Given the description of an element on the screen output the (x, y) to click on. 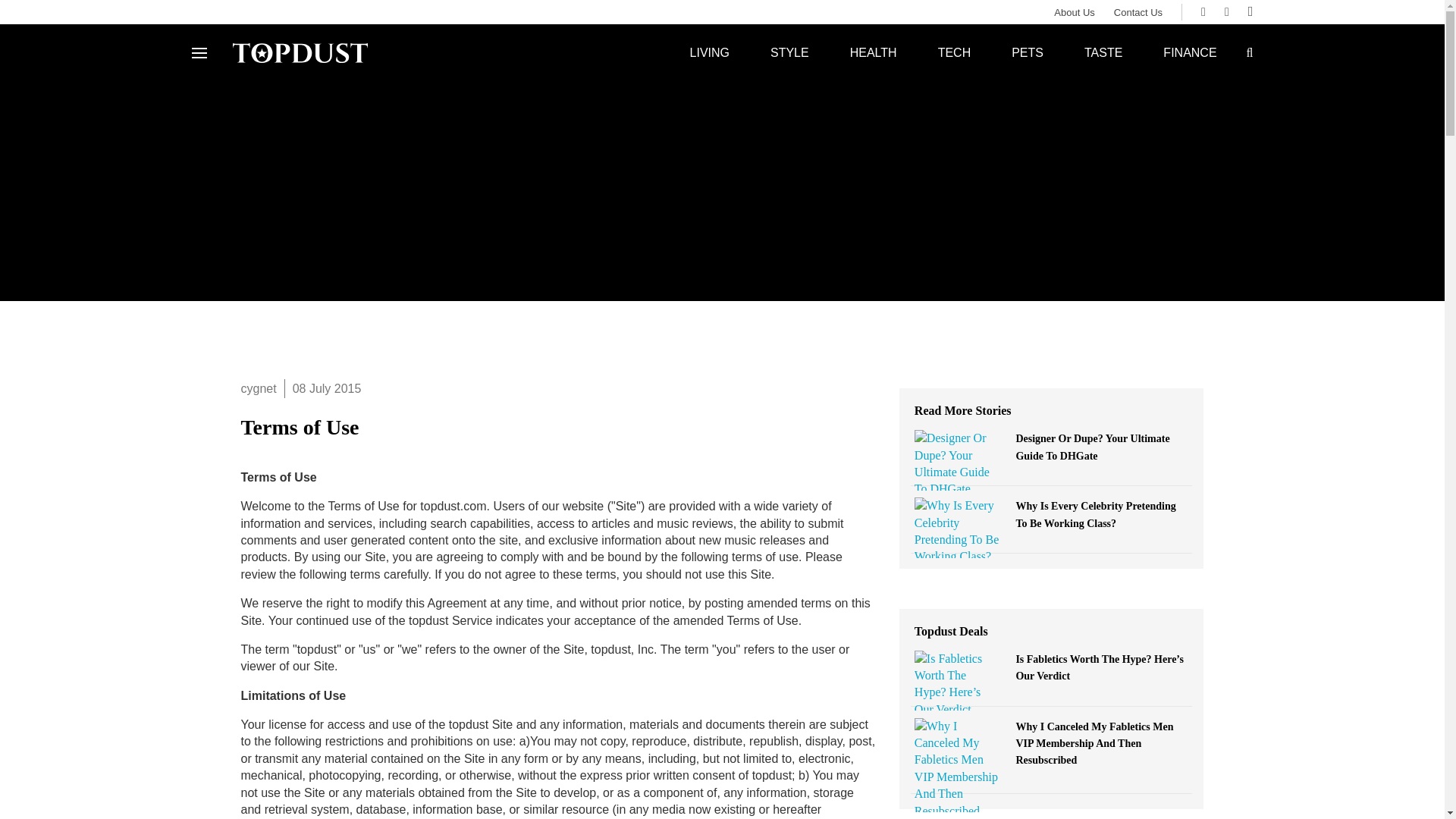
TECH (954, 52)
Logo (299, 51)
cygnet (258, 388)
HEALTH (873, 52)
PETS (1027, 52)
Contact Us (1127, 12)
TASTE (1103, 52)
FINANCE (1189, 52)
STYLE (789, 52)
About Us (1064, 12)
